Given the description of an element on the screen output the (x, y) to click on. 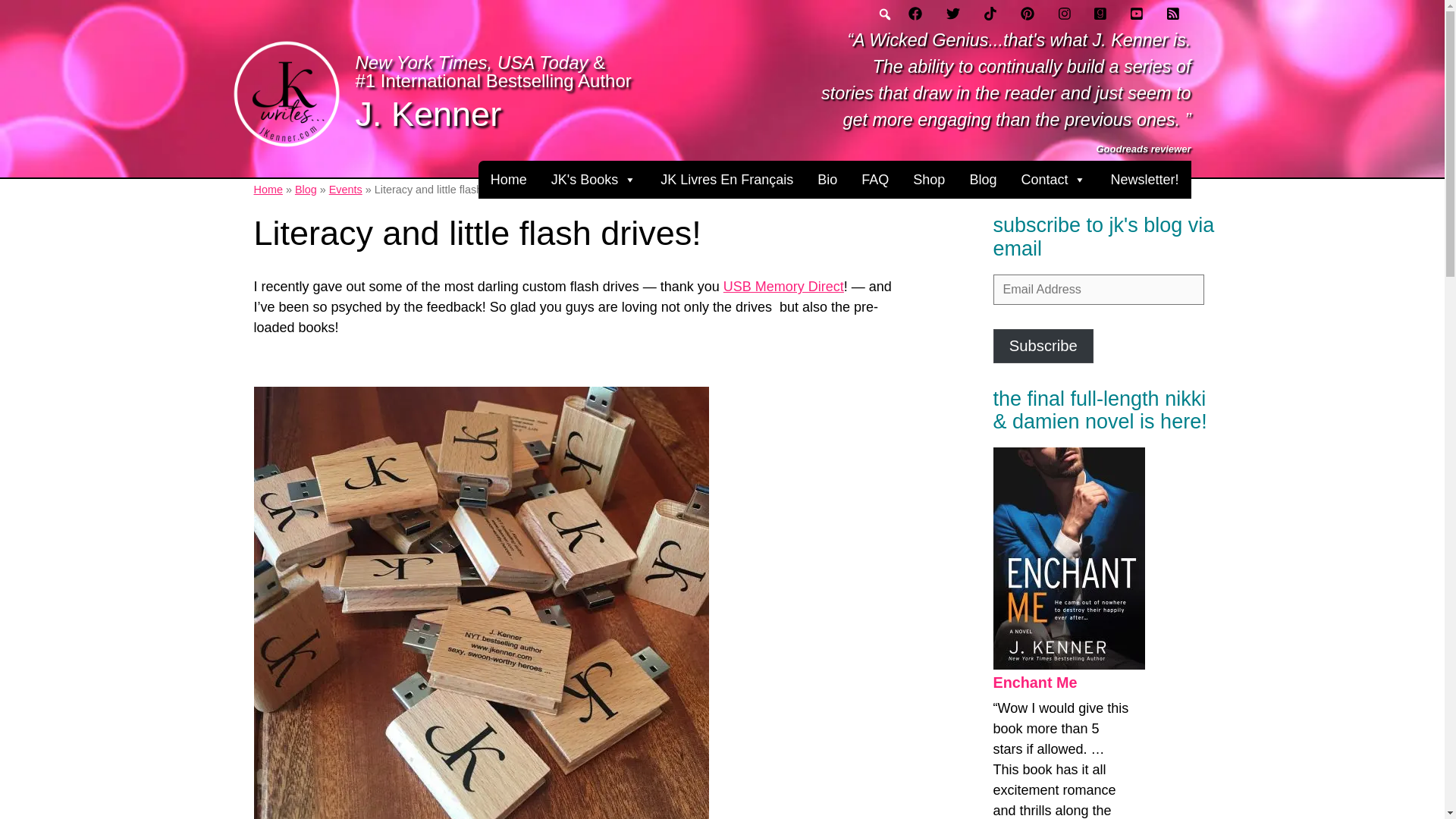
Contact (1053, 179)
Search (11, 8)
JK's Books (592, 179)
JK on YouTube (1136, 13)
JK on Twitter (953, 13)
J. Kenner (427, 114)
Home (508, 179)
JK on Instagram (1064, 13)
Blog (982, 179)
JK on Pinterest (1027, 13)
Bio (826, 179)
Shop (928, 179)
Goodreads (1099, 13)
TikTok (990, 13)
FAQ (874, 179)
